Given the description of an element on the screen output the (x, y) to click on. 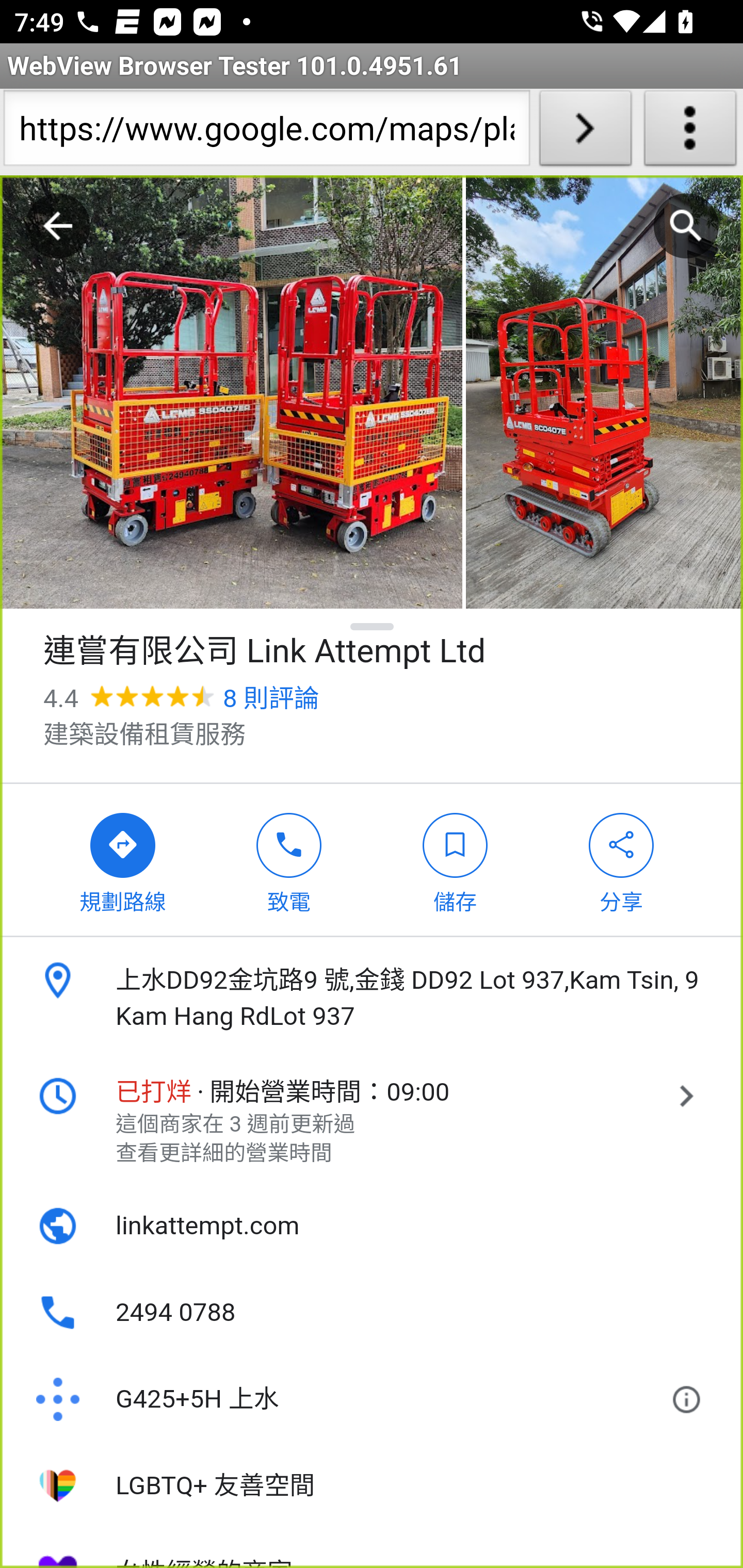
Load URL (585, 132)
About WebView (690, 132)
第 1 張相片 (共 9 張) (231, 392)
第 2 張相片 (共 9 張) (604, 392)
返回 (58, 226)
搜尋 (686, 226)
隱藏詳細資訊 (372, 626)
4.4 星級 8 則評論 (181, 698)
前往連嘗有限公司 Link Attempt Ltd的路線 (123, 858)
致電「連嘗有限公司 Link Attempt Ltd」  致電 (289, 858)
將「連嘗有限公司 Link Attempt Ltd」儲存至清單中 (454, 858)
分享「連嘗有限公司 Link Attempt Ltd」 (621, 858)
已打烊 ⋅ 開始營業時間：09:00·查看更詳細的營業時間 (371, 1120)
網站: linkattempt.com  linkattempt.com (371, 1226)
電話號碼: 2494 0788  2494 0788 (371, 1313)
Plus Code: G425+5H 上水 (345, 1400)
進一步瞭解 Plus Codes (690, 1400)
